Given the description of an element on the screen output the (x, y) to click on. 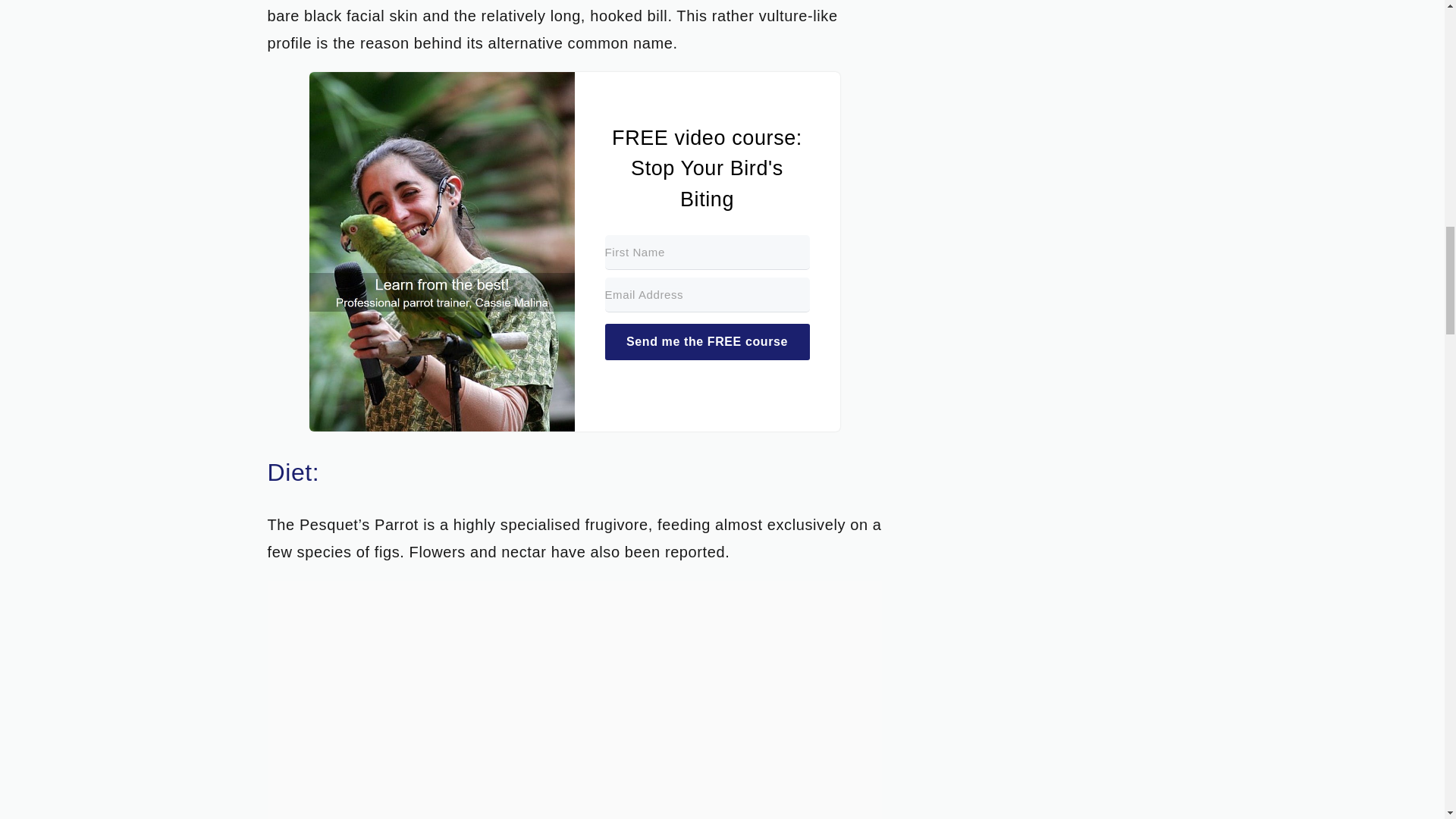
Send me the FREE course (707, 341)
